Given the description of an element on the screen output the (x, y) to click on. 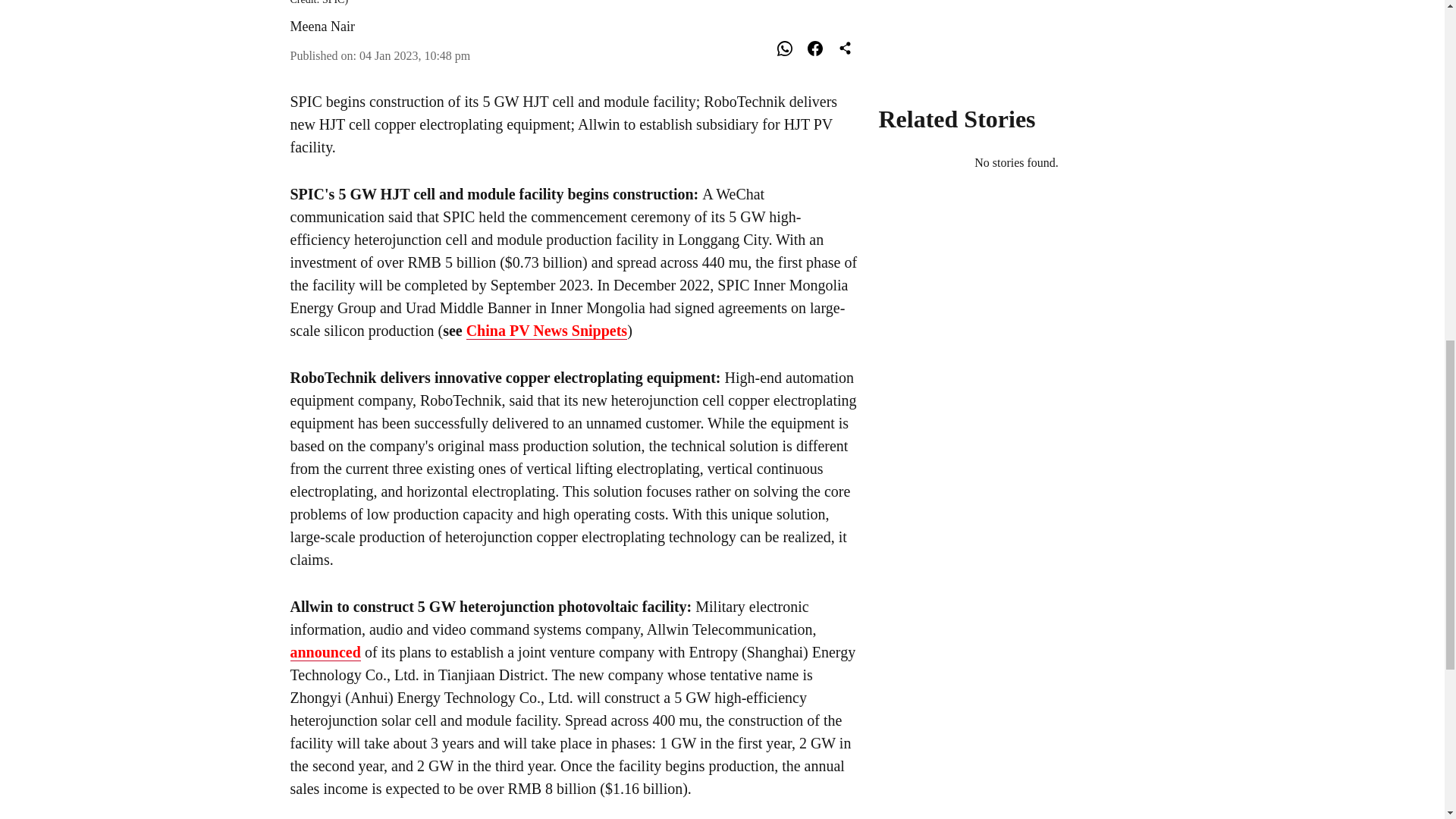
2023-01-04 14:48 (414, 54)
Meena Nair (321, 26)
announced (324, 651)
China PV News Snippets (546, 330)
